Given the description of an element on the screen output the (x, y) to click on. 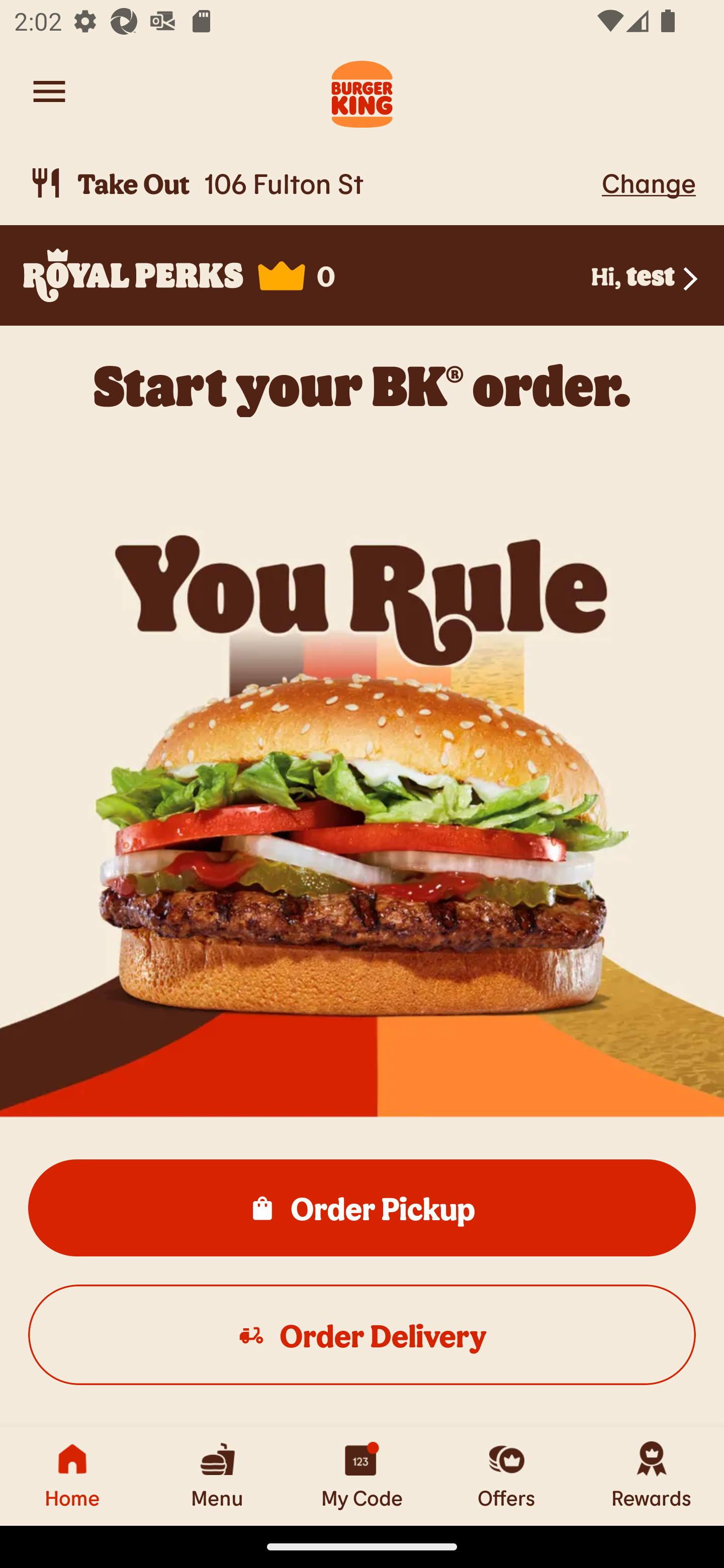
Burger King Logo. Navigate to Home (362, 91)
Navigate to account menu  (49, 91)
Take Out, 106 Fulton St  Take Out 106 Fulton St (311, 183)
Change (648, 182)
Start your BK® order. (361, 385)
, Order Pickup  Order Pickup (361, 1206)
, Order Delivery  Order Delivery (361, 1334)
Home (72, 1475)
Menu (216, 1475)
My Code (361, 1475)
Offers (506, 1475)
Rewards (651, 1475)
